Given the description of an element on the screen output the (x, y) to click on. 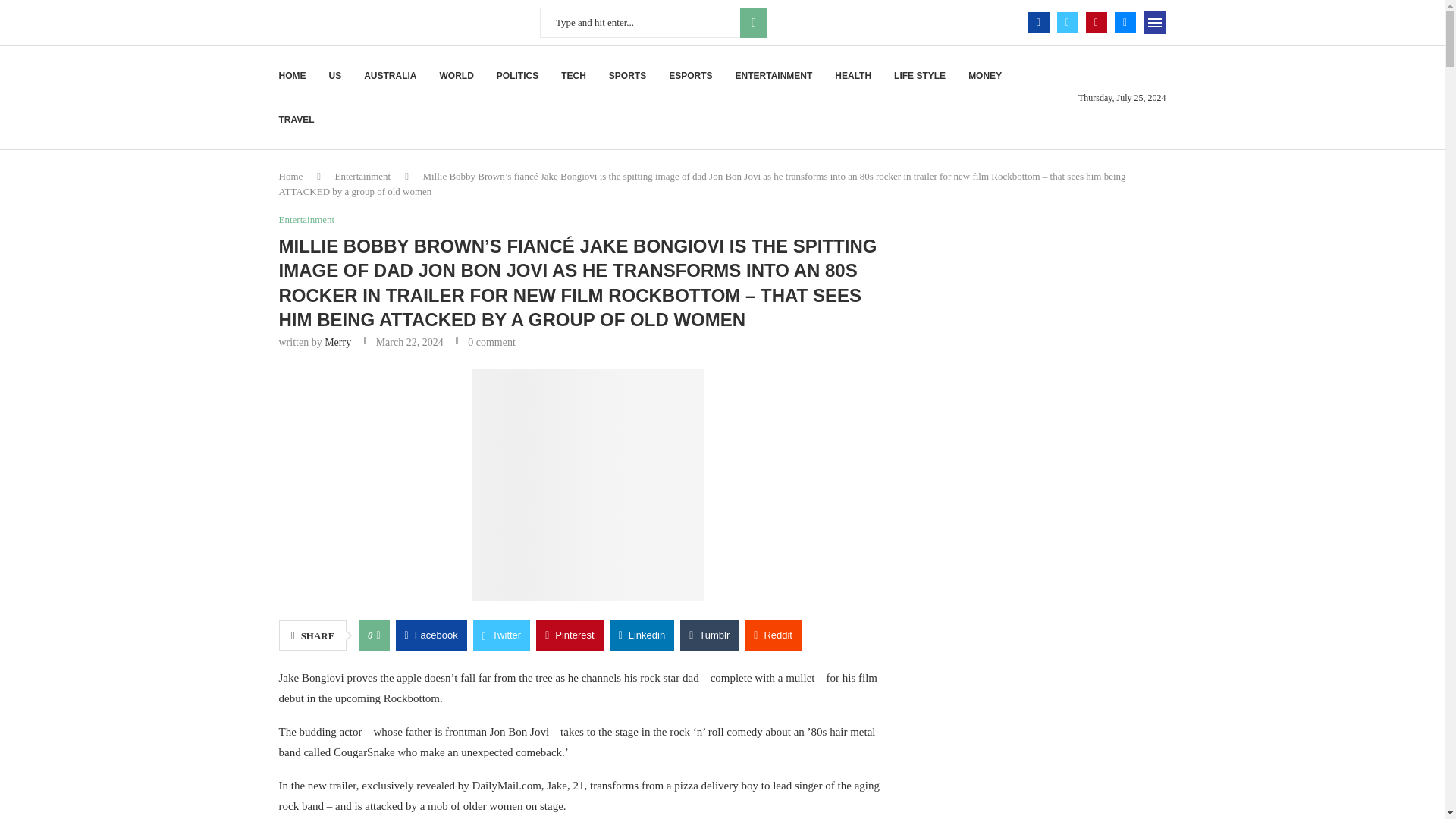
ESPORTS (689, 75)
LIFE STYLE (918, 75)
SEARCH (753, 22)
ENTERTAINMENT (773, 75)
AUSTRALIA (390, 75)
POLITICS (517, 75)
